Given the description of an element on the screen output the (x, y) to click on. 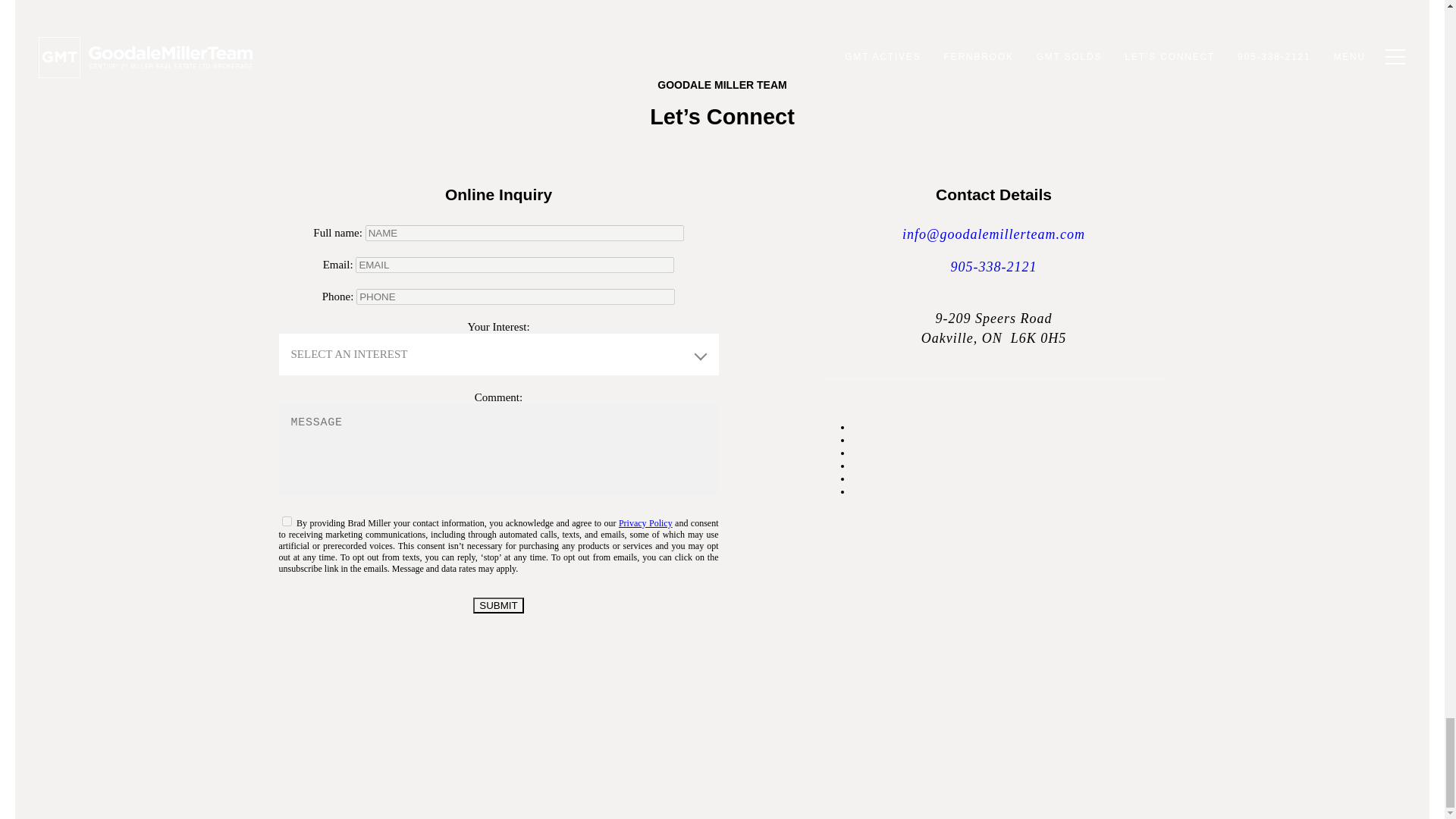
SUBMIT (497, 605)
on (287, 521)
